Given the description of an element on the screen output the (x, y) to click on. 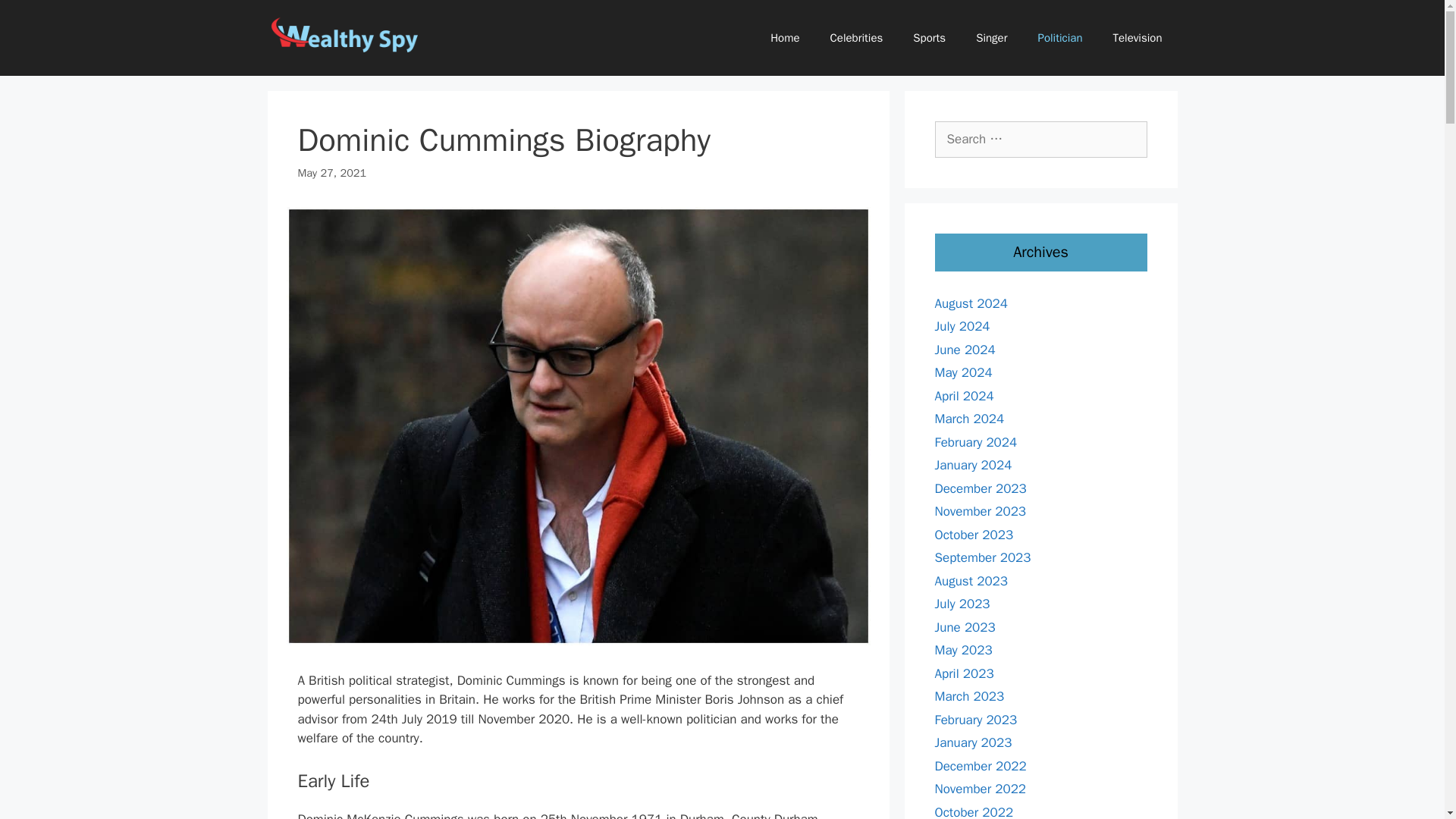
November 2023 (980, 511)
June 2024 (964, 349)
Singer (991, 37)
Sports (929, 37)
August 2024 (970, 303)
Politician (1059, 37)
July 2024 (962, 326)
August 2023 (970, 580)
December 2023 (980, 488)
Celebrities (856, 37)
